Given the description of an element on the screen output the (x, y) to click on. 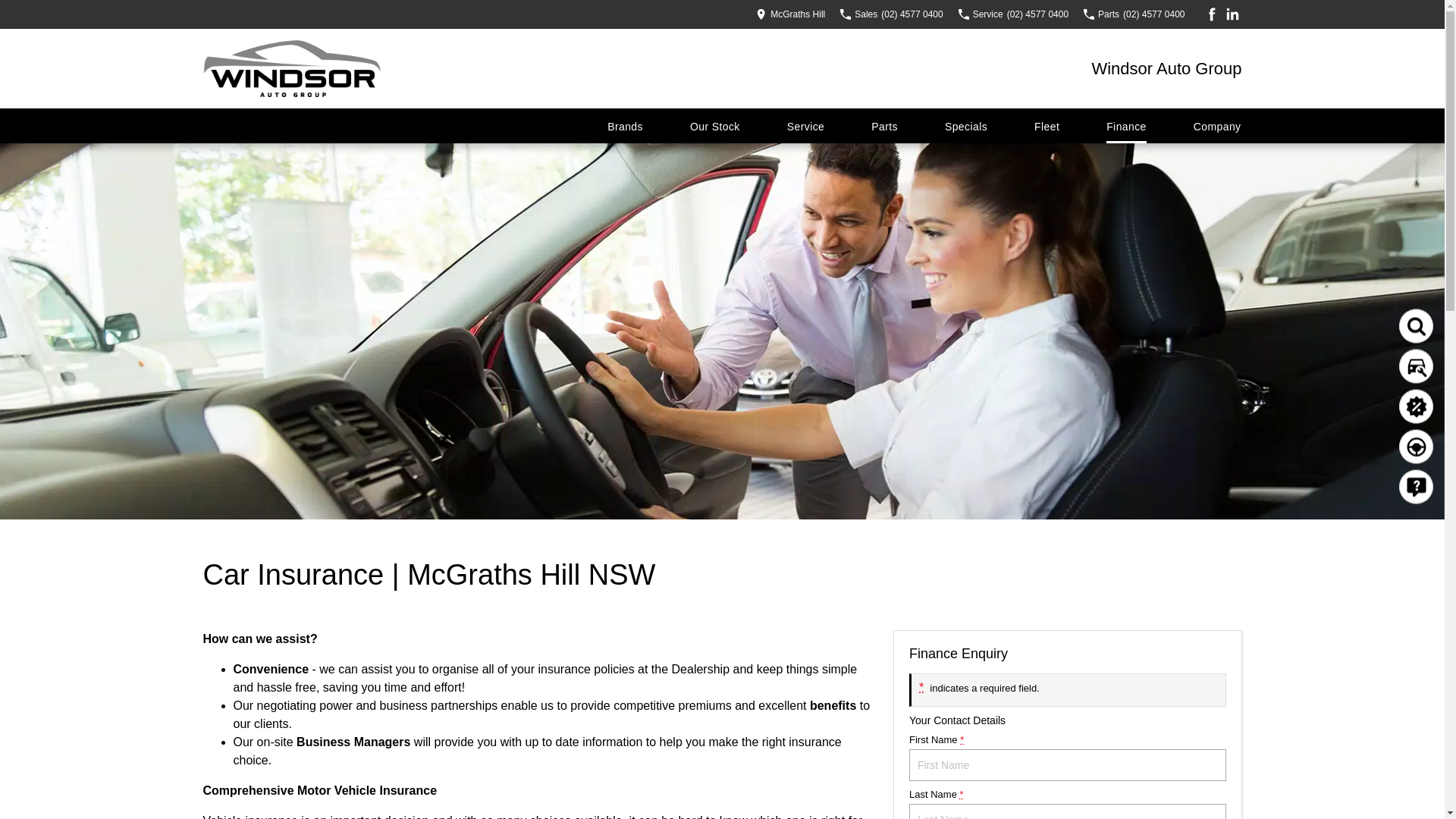
Book a Service (1422, 369)
Parts (884, 125)
Service (804, 125)
Specials (965, 125)
Finance (1126, 125)
Fleet (1046, 125)
Windsor Auto Group (1165, 68)
Brands (625, 125)
Our Stock (715, 125)
Search Our Stock (1422, 329)
McGraths Hill (790, 13)
